Given the description of an element on the screen output the (x, y) to click on. 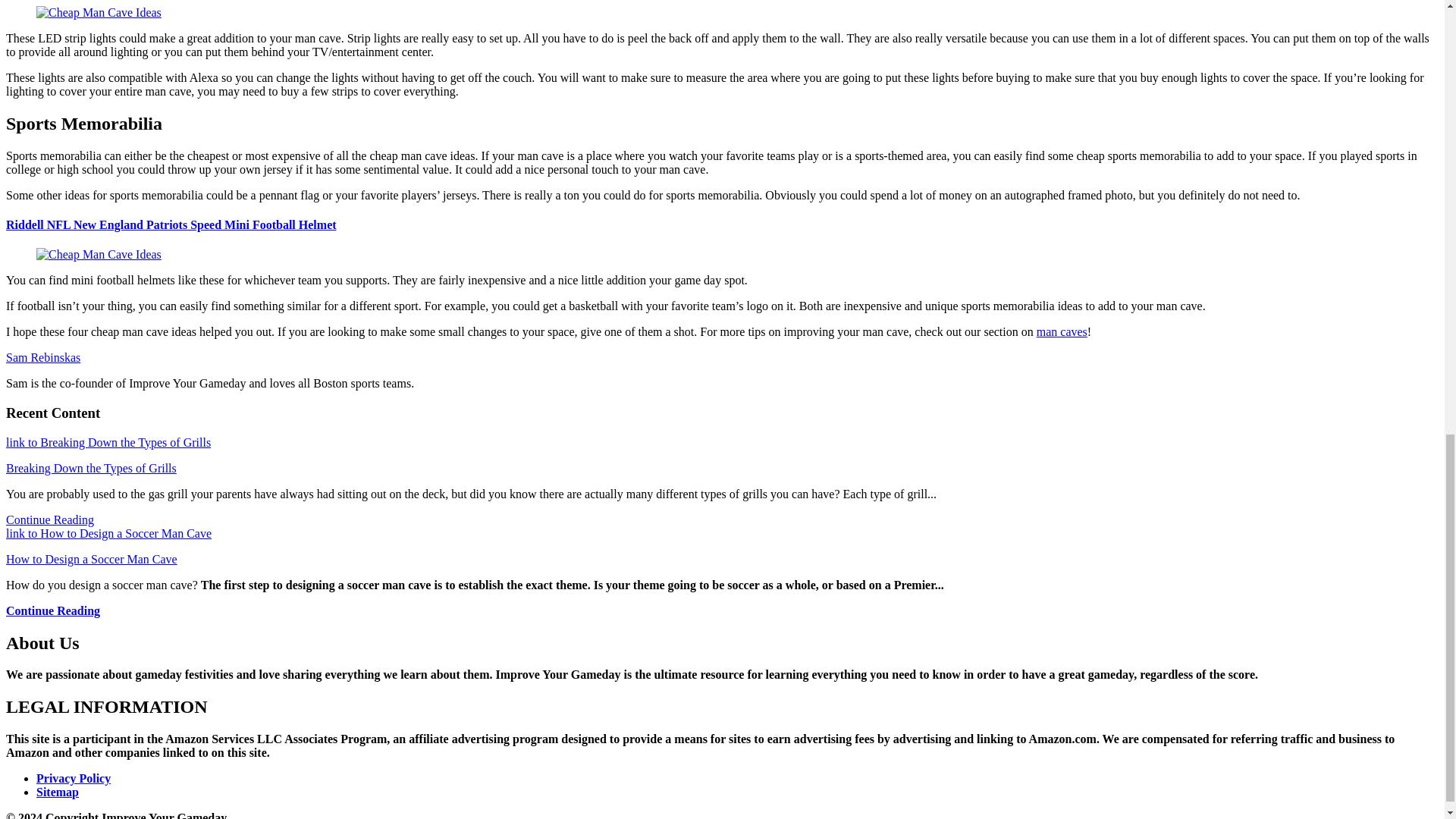
Riddell NFL New England Patriots Speed Mini Football Helmet (170, 224)
man caves (1061, 331)
Continue Reading (52, 610)
Sam Rebinskas (42, 357)
How to Design a Soccer Man Cave (91, 558)
Breaking Down the Types of Grills (90, 468)
Privacy Policy (73, 778)
Continue Reading (49, 519)
Sitemap (57, 791)
